Given the description of an element on the screen output the (x, y) to click on. 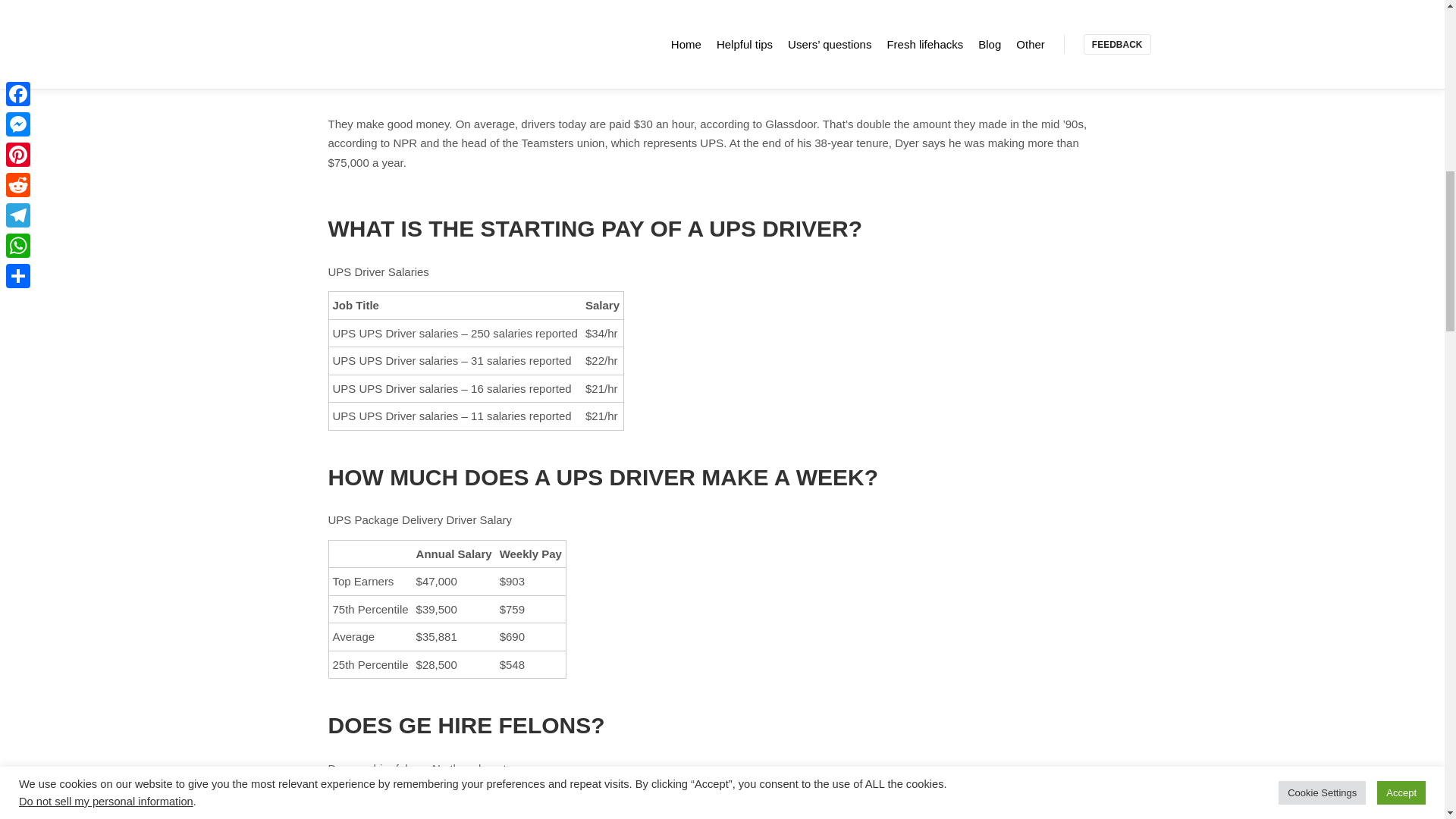
What is the starting pay for a FedEx driver? (449, 4)
